Given the description of an element on the screen output the (x, y) to click on. 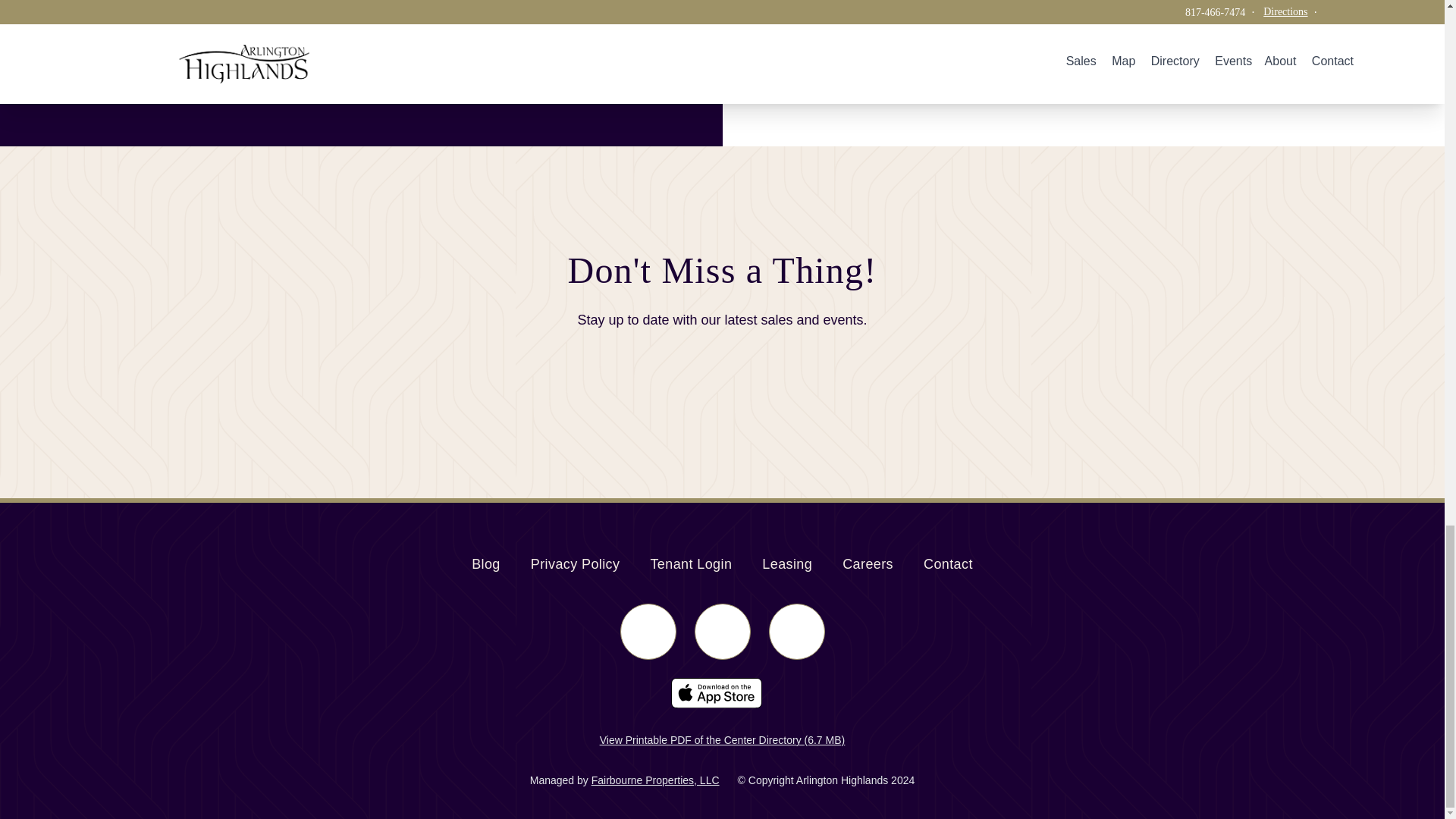
directory page (214, 61)
Careers (886, 54)
Tenant Login (868, 568)
Leasing (690, 568)
Privacy Policy (895, 12)
Blog (786, 568)
Contact (575, 568)
